Given the description of an element on the screen output the (x, y) to click on. 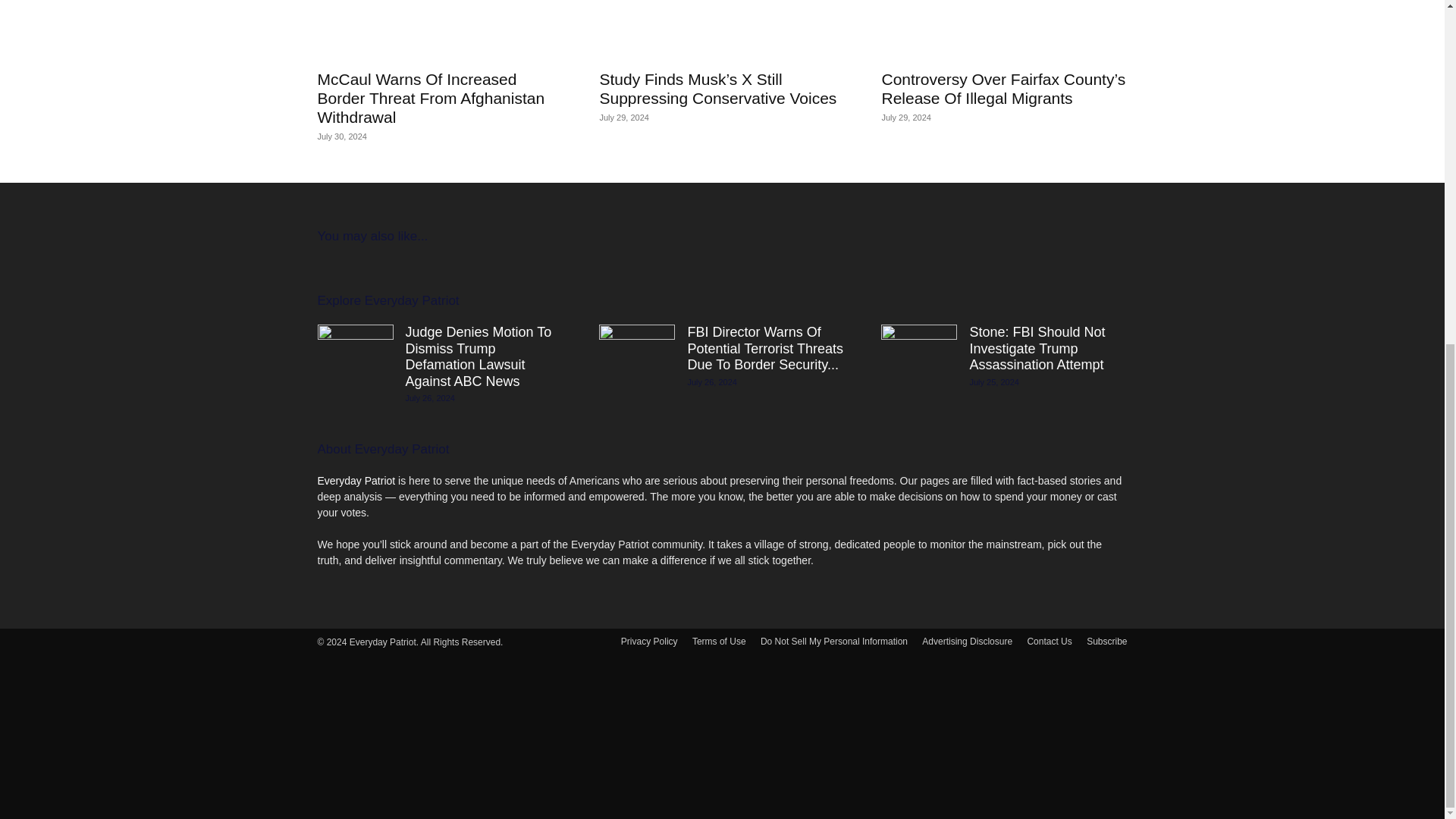
About Everyday Patriot (382, 449)
Everyday Patriot (355, 480)
